Given the description of an element on the screen output the (x, y) to click on. 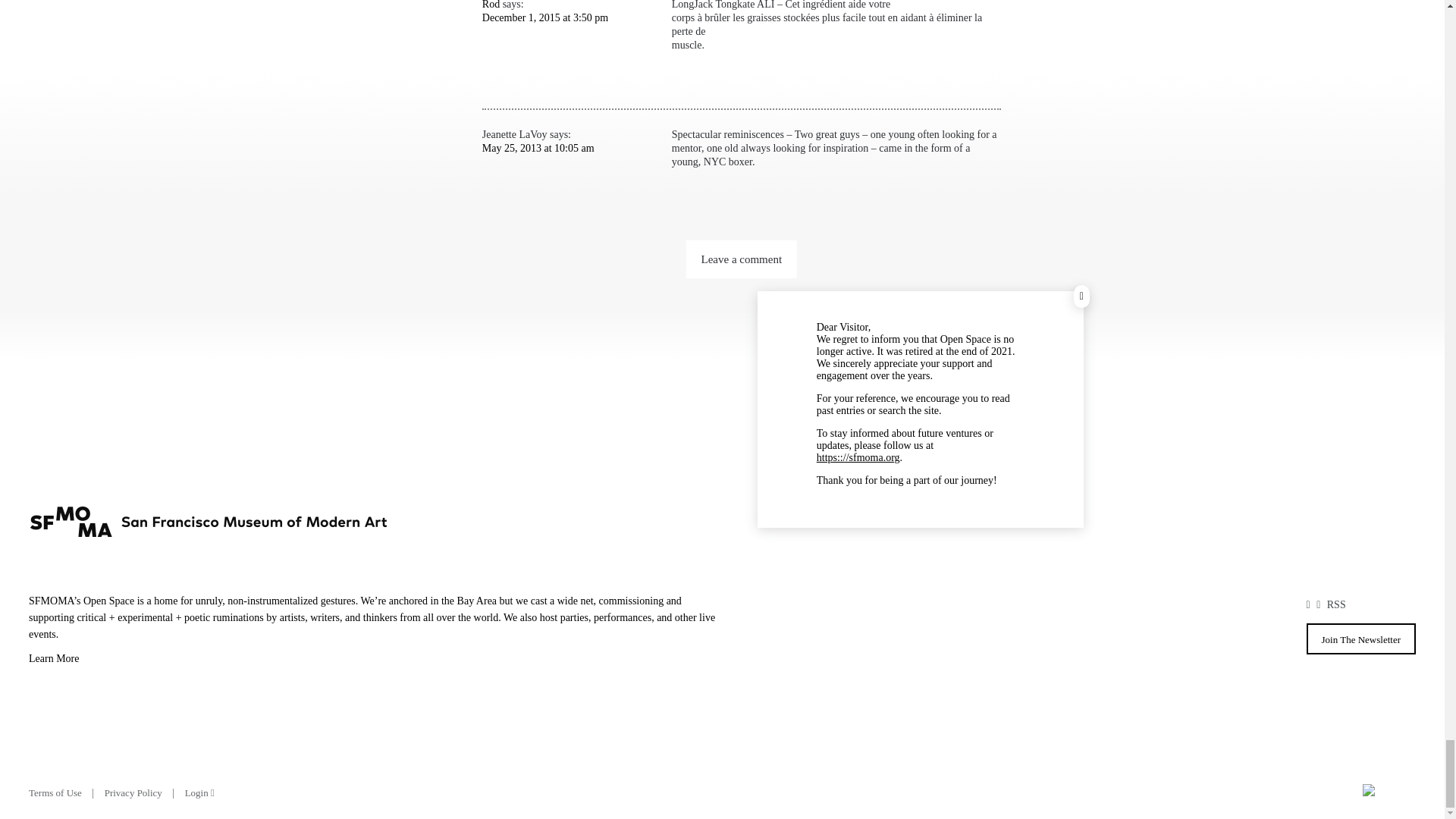
December 1, 2015 at 3:50 pm (544, 17)
Rod (490, 4)
May 25, 2013 at 10:05 am (537, 147)
